Given the description of an element on the screen output the (x, y) to click on. 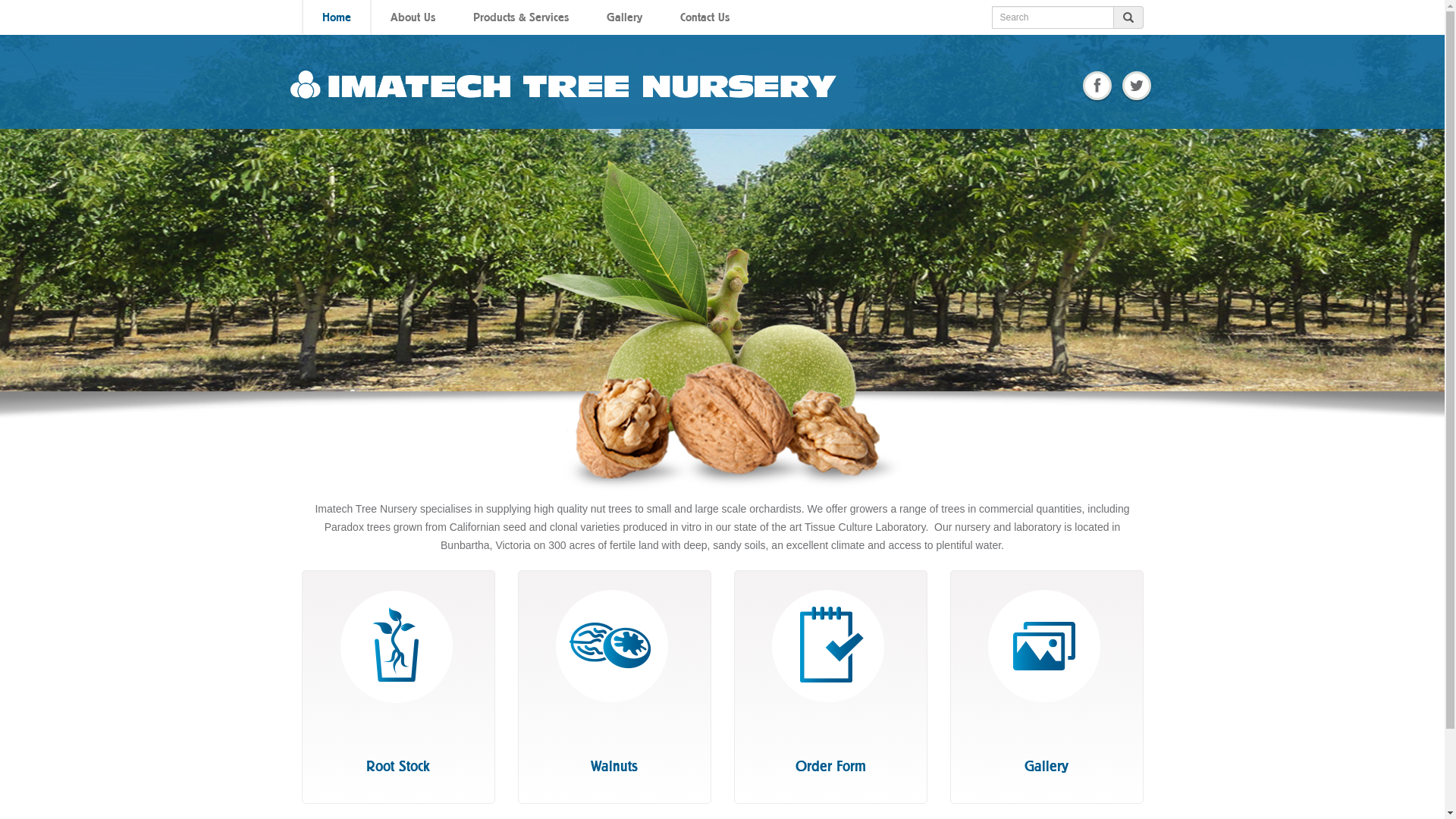
About Us Element type: text (412, 17)
Home Element type: text (336, 17)
Gallery Element type: text (623, 17)
Products & Services Element type: text (519, 17)
Contact Us Element type: text (704, 17)
